Given the description of an element on the screen output the (x, y) to click on. 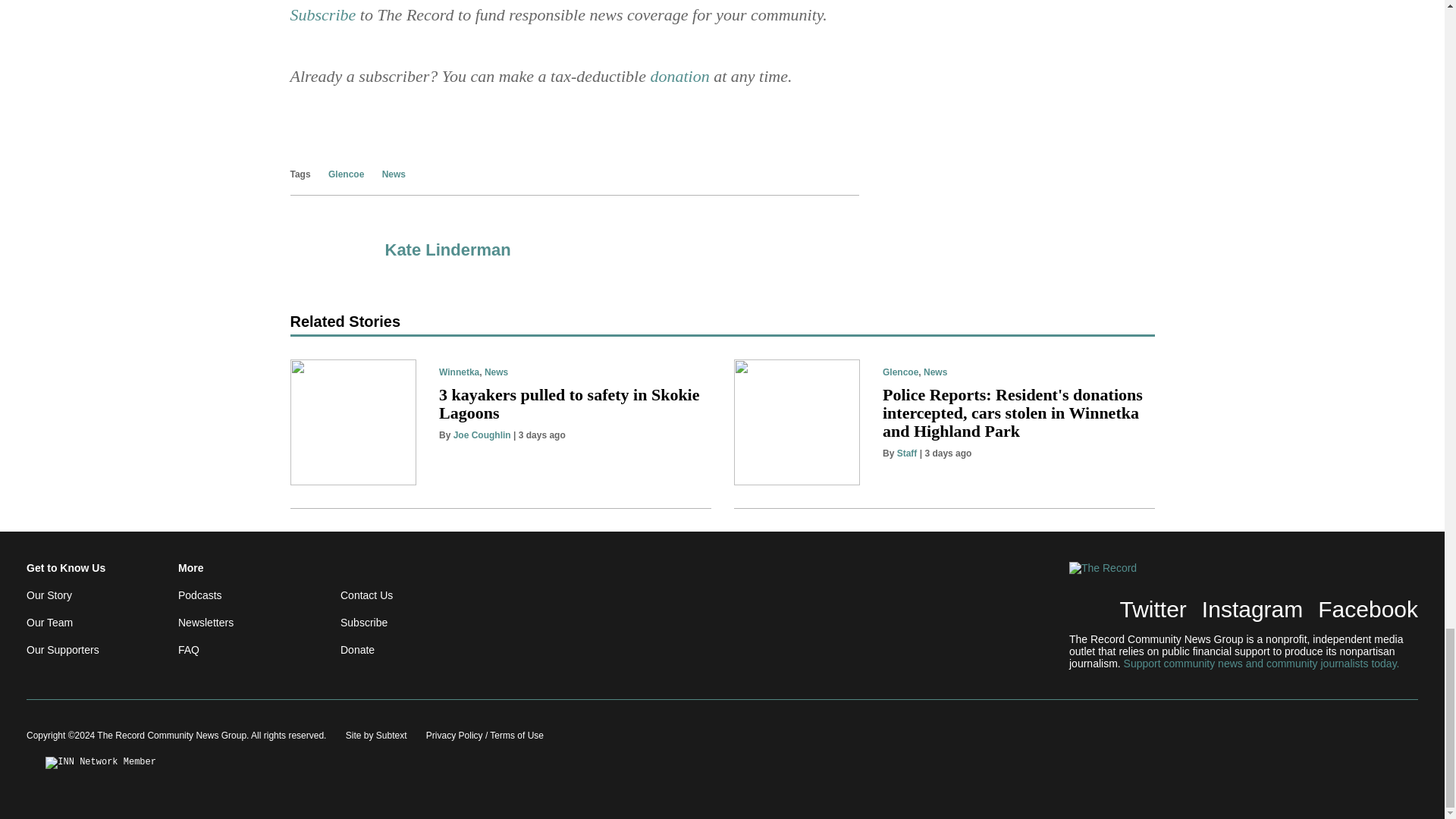
The Record (1129, 567)
